Given the description of an element on the screen output the (x, y) to click on. 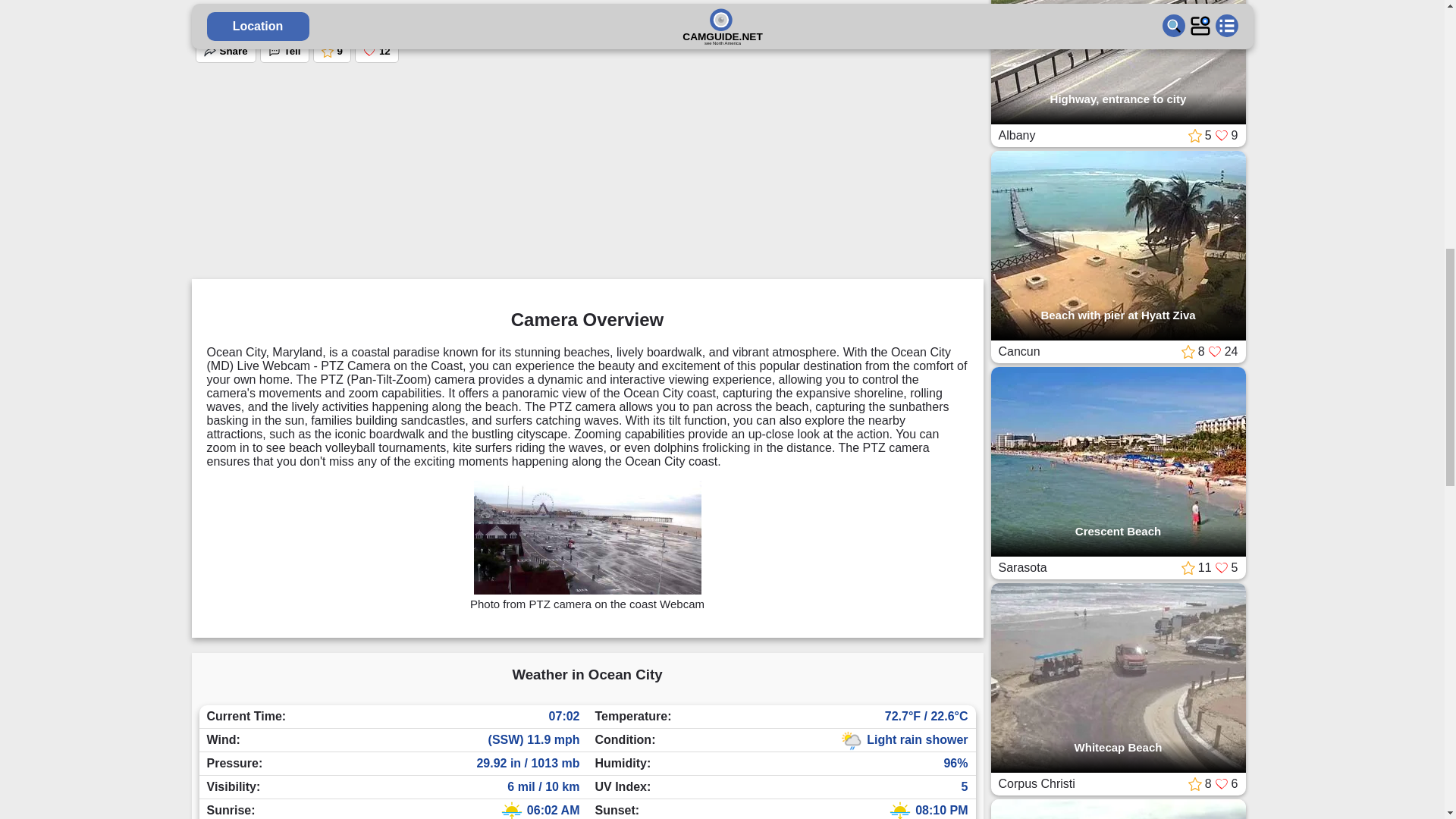
See Assawoman Bay Bridge (617, 127)
See Heron Harbor - Assawoman Bay (401, 134)
